Given the description of an element on the screen output the (x, y) to click on. 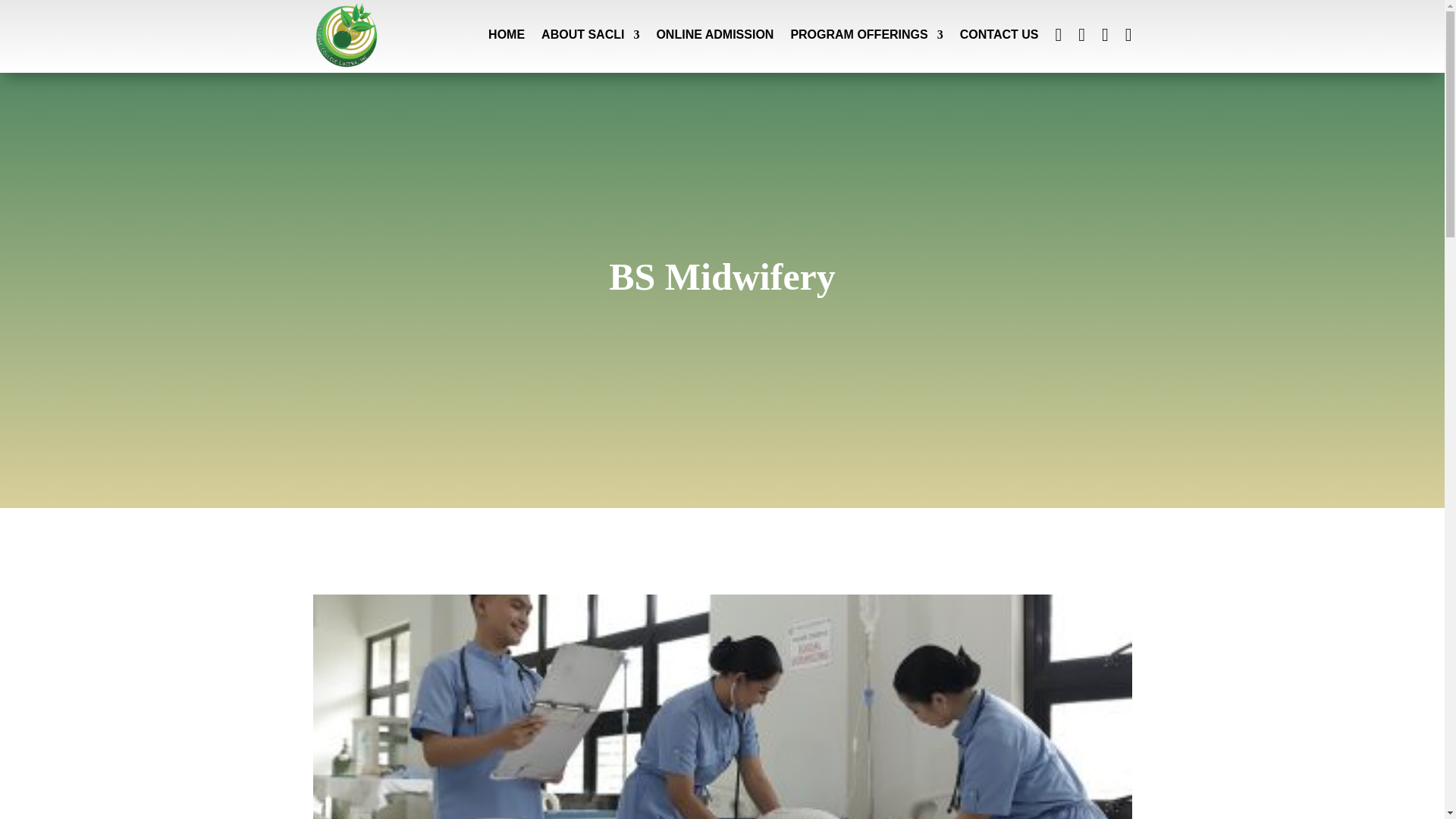
ONLINE ADMISSION (714, 34)
PROGRAM OFFERINGS (866, 34)
ABOUT SACLI (590, 34)
CONTACT US (999, 34)
